Given the description of an element on the screen output the (x, y) to click on. 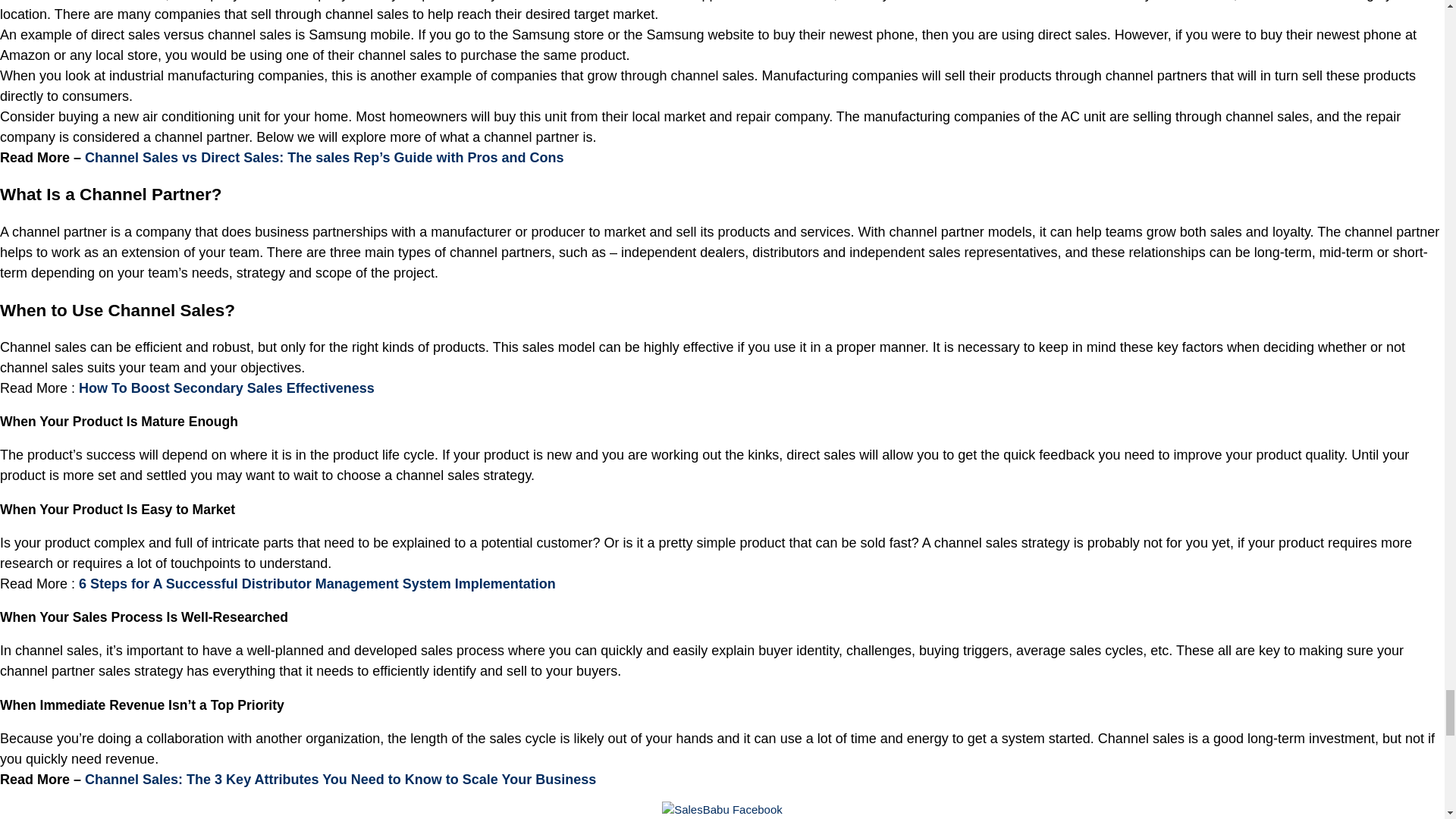
How To Boost Secondary Sales Effectiveness (226, 387)
